Given the description of an element on the screen output the (x, y) to click on. 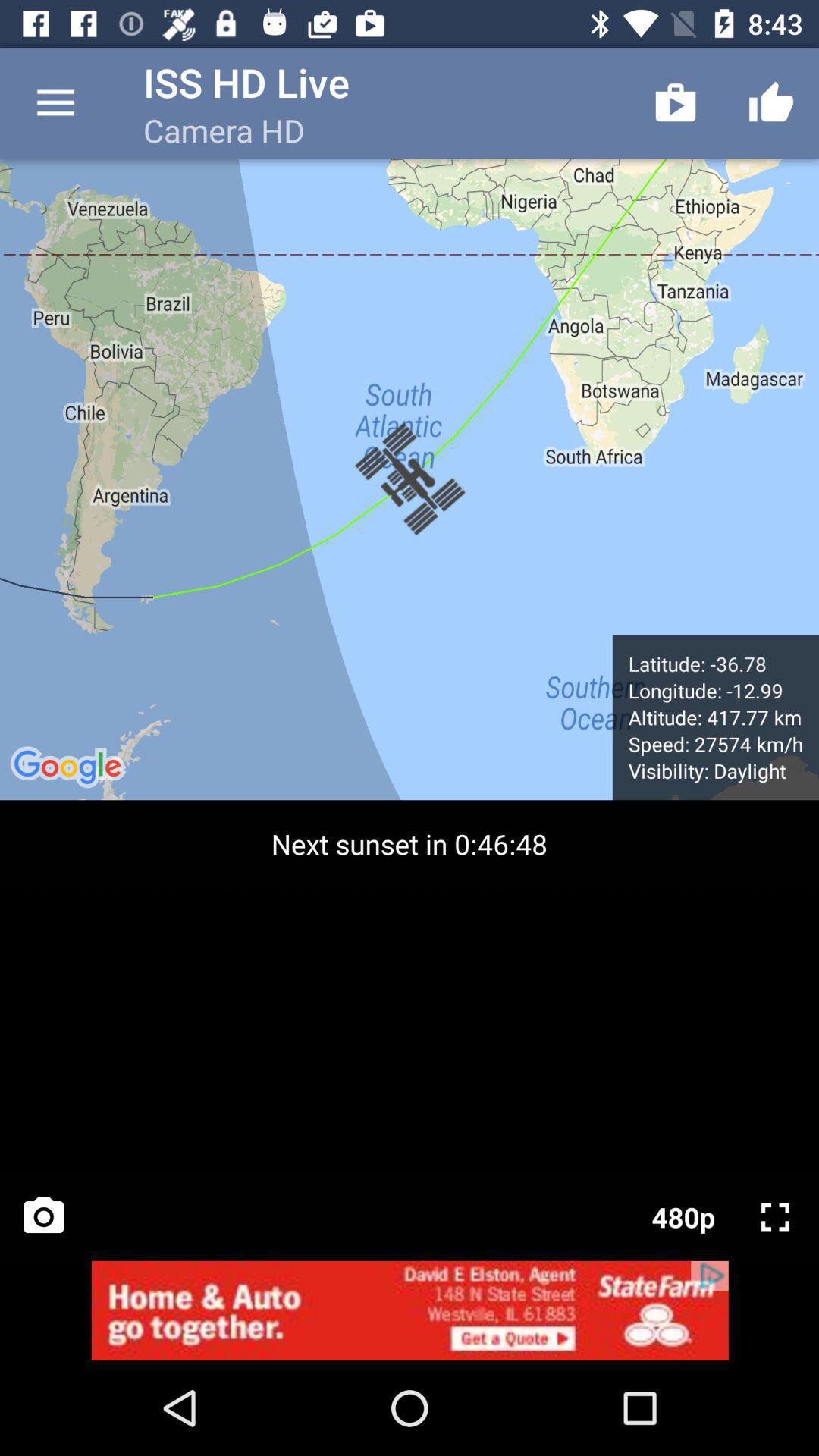
take photo (43, 1216)
